Given the description of an element on the screen output the (x, y) to click on. 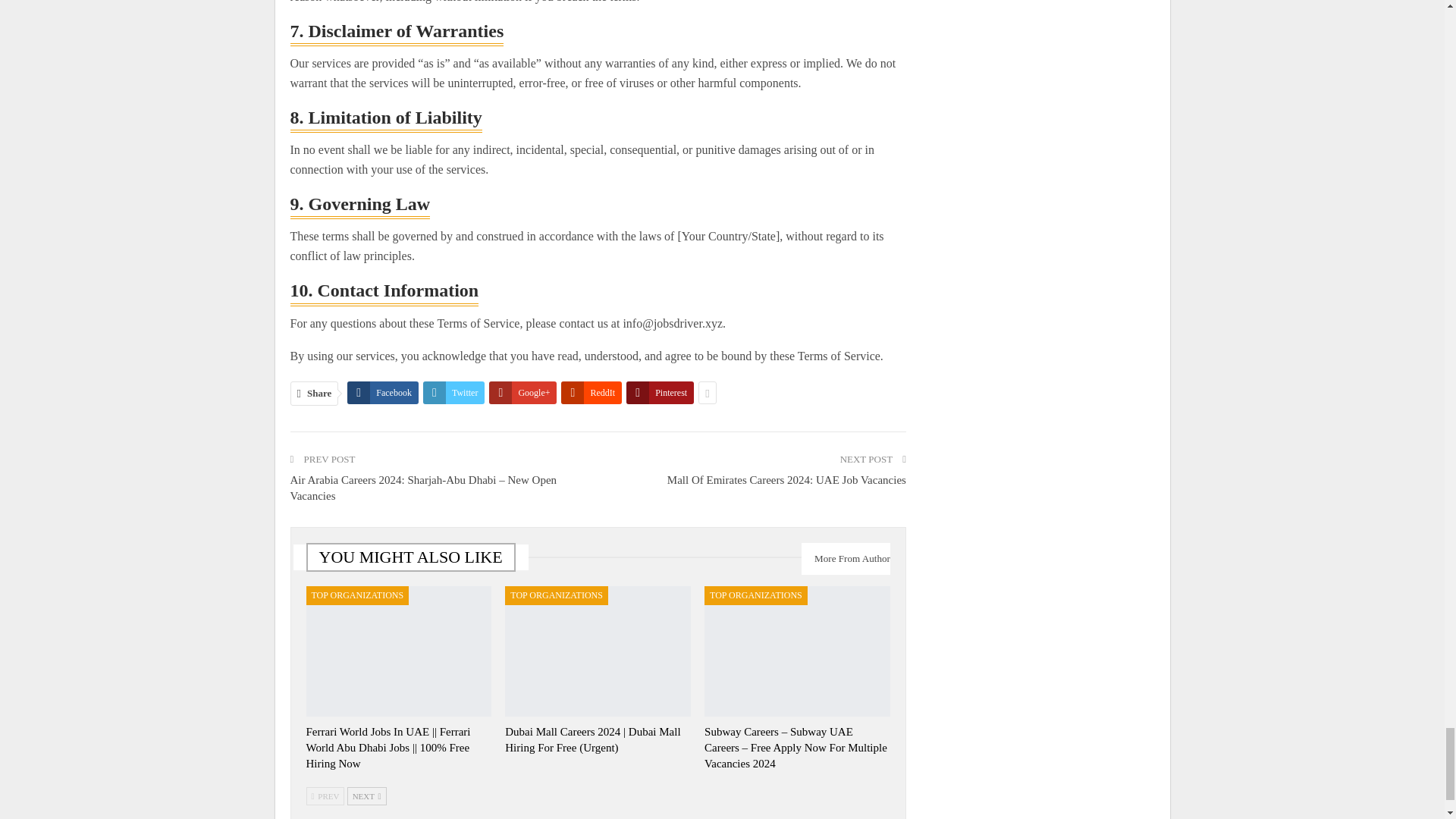
Next (367, 796)
Previous (325, 796)
